Given the description of an element on the screen output the (x, y) to click on. 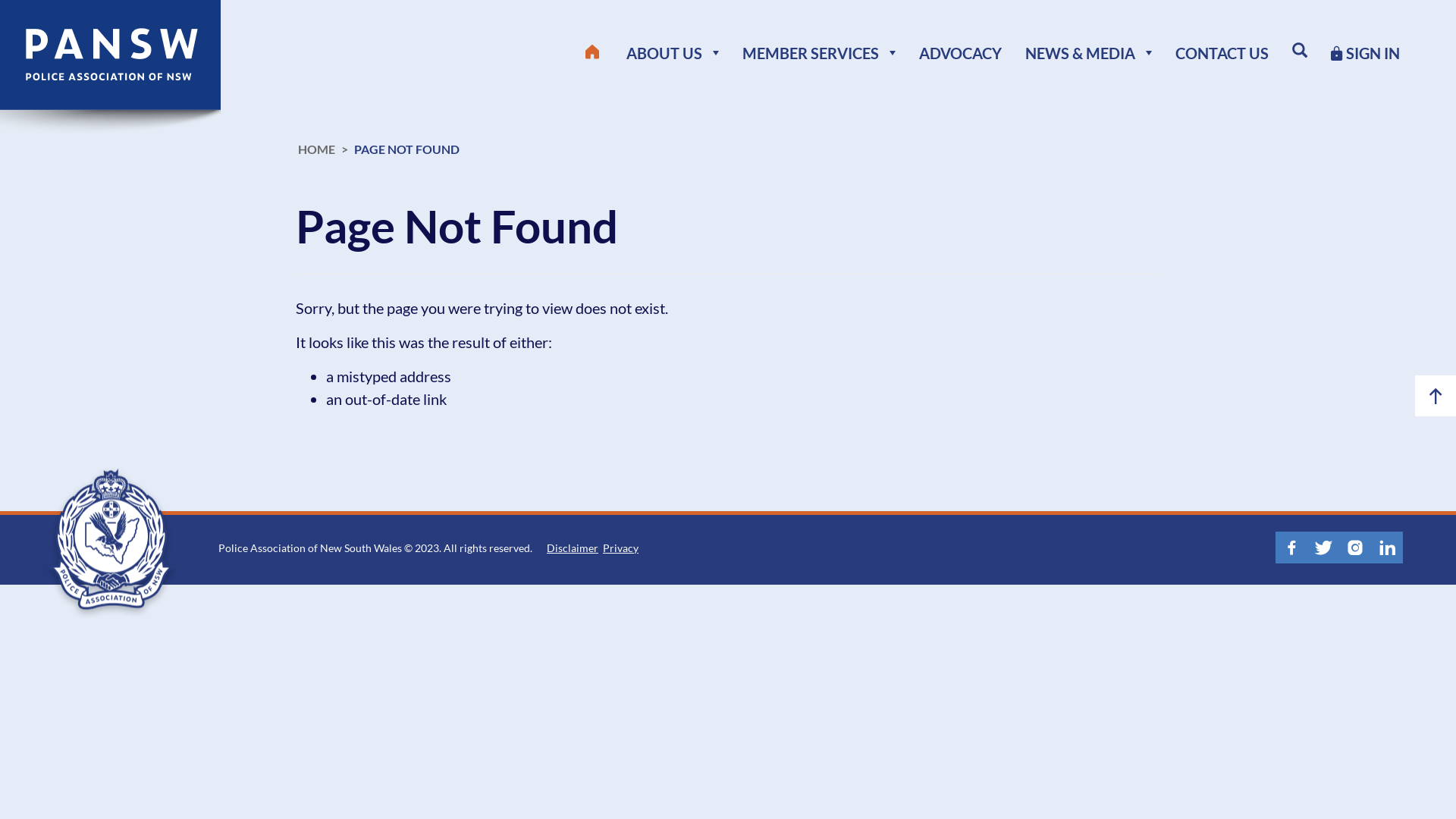
ABOUT US Element type: text (672, 51)
HOME Element type: text (316, 148)
Twitter Element type: hover (1323, 547)
Facebook Element type: hover (1291, 547)
Privacy Element type: text (620, 547)
  SIGN IN Element type: text (1364, 51)
CONTACT US Element type: text (1221, 51)
Disclaimer Element type: text (572, 547)
ADVOCACY Element type: text (960, 51)
Search Element type: hover (1299, 48)
MEMBER SERVICES Element type: text (818, 51)
LinkedIn Element type: hover (1386, 547)
Instagram Element type: hover (1355, 547)
NEWS & MEDIA Element type: text (1088, 51)
